Given the description of an element on the screen output the (x, y) to click on. 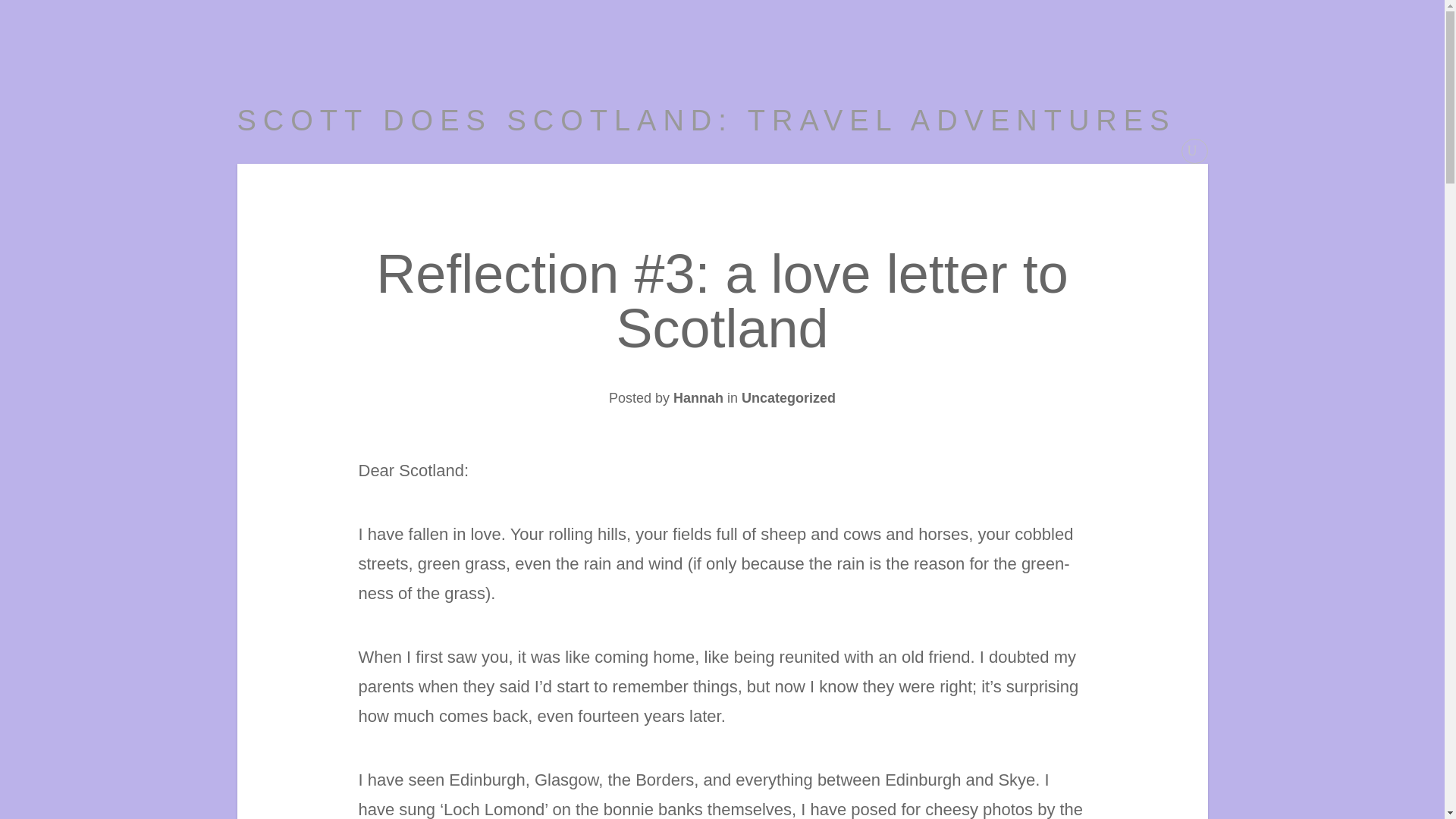
SCOTT DOES SCOTLAND: TRAVEL ADVENTURES (704, 120)
Posts by Hannah (697, 397)
Uncategorized (788, 397)
Search (21, 7)
Hannah (697, 397)
